Given the description of an element on the screen output the (x, y) to click on. 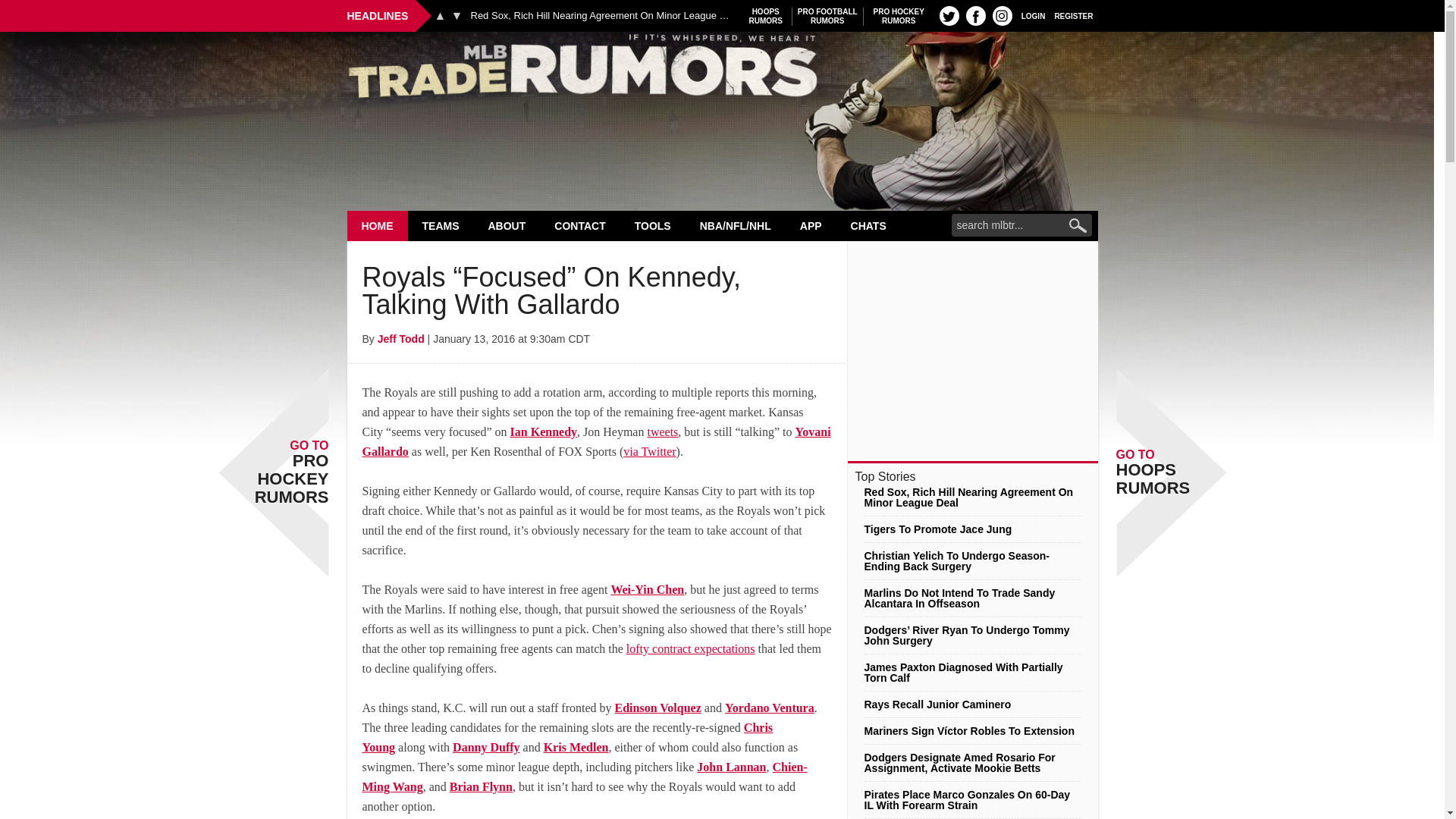
Previous (439, 15)
FB profile (975, 15)
Instagram profile (765, 16)
Search (1001, 15)
Twitter profile (898, 16)
LOGIN (949, 15)
HOME (602, 15)
